Given the description of an element on the screen output the (x, y) to click on. 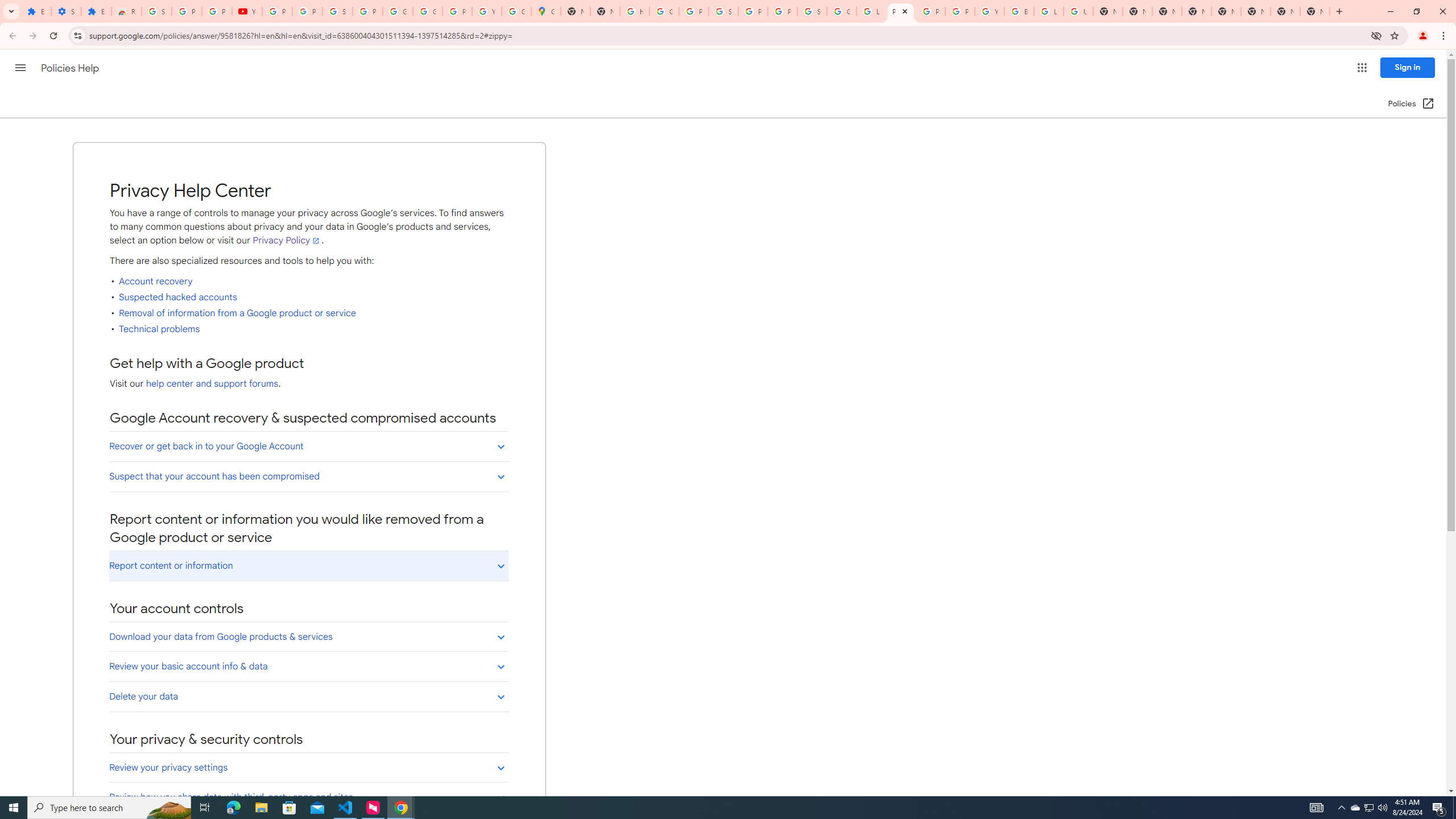
Suspect that your account has been compromised (308, 476)
Account recovery (155, 281)
Policies Help (70, 68)
Extensions (95, 11)
YouTube (247, 11)
Removal of information from a Google product or service (237, 313)
Third-party cookies blocked (1376, 35)
Google Maps (545, 11)
Policies (Open in a new window) (1411, 103)
Recover or get back in to your Google Account (308, 445)
